Given the description of an element on the screen output the (x, y) to click on. 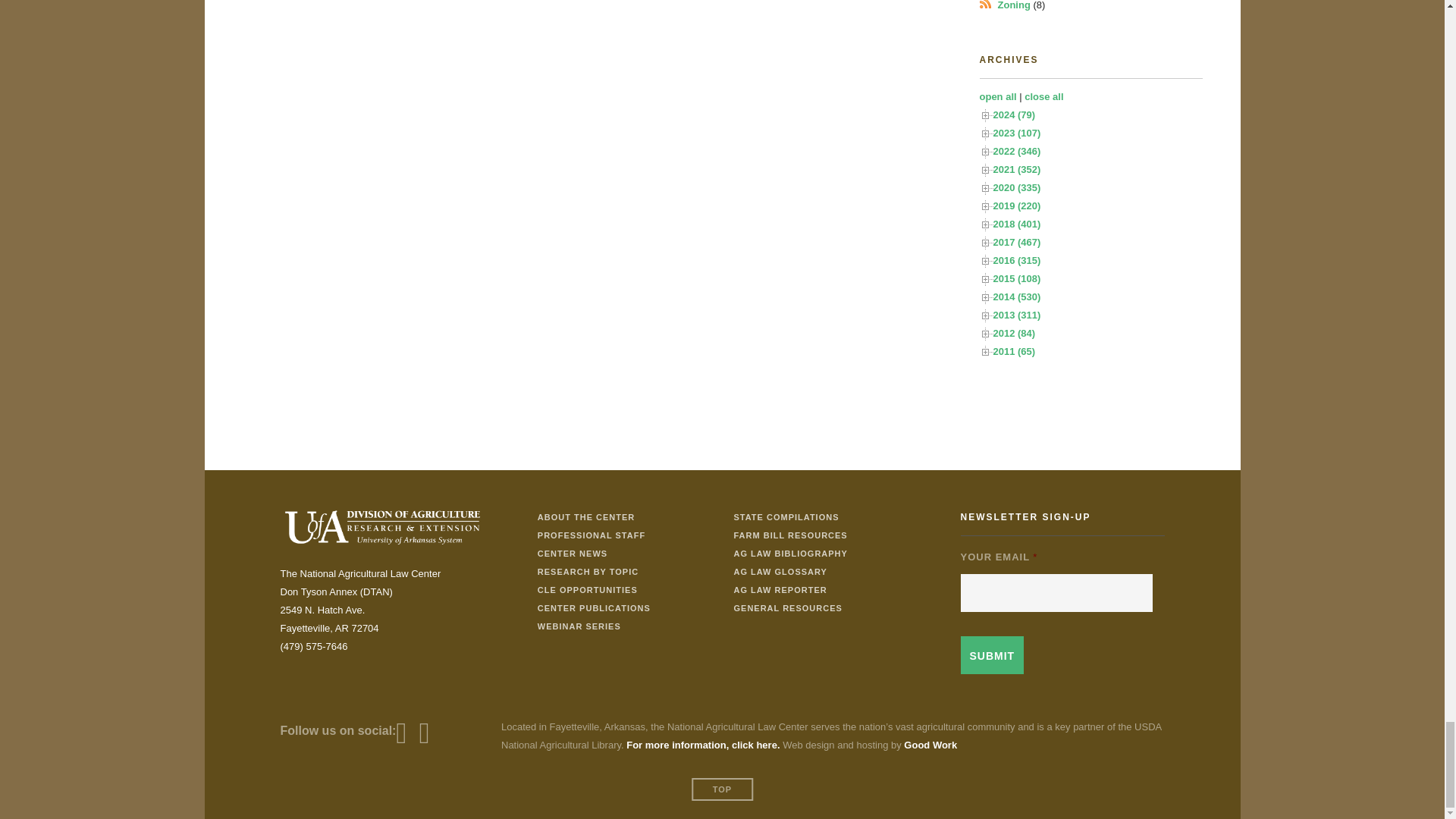
Submit (991, 655)
open all (997, 96)
